Given the description of an element on the screen output the (x, y) to click on. 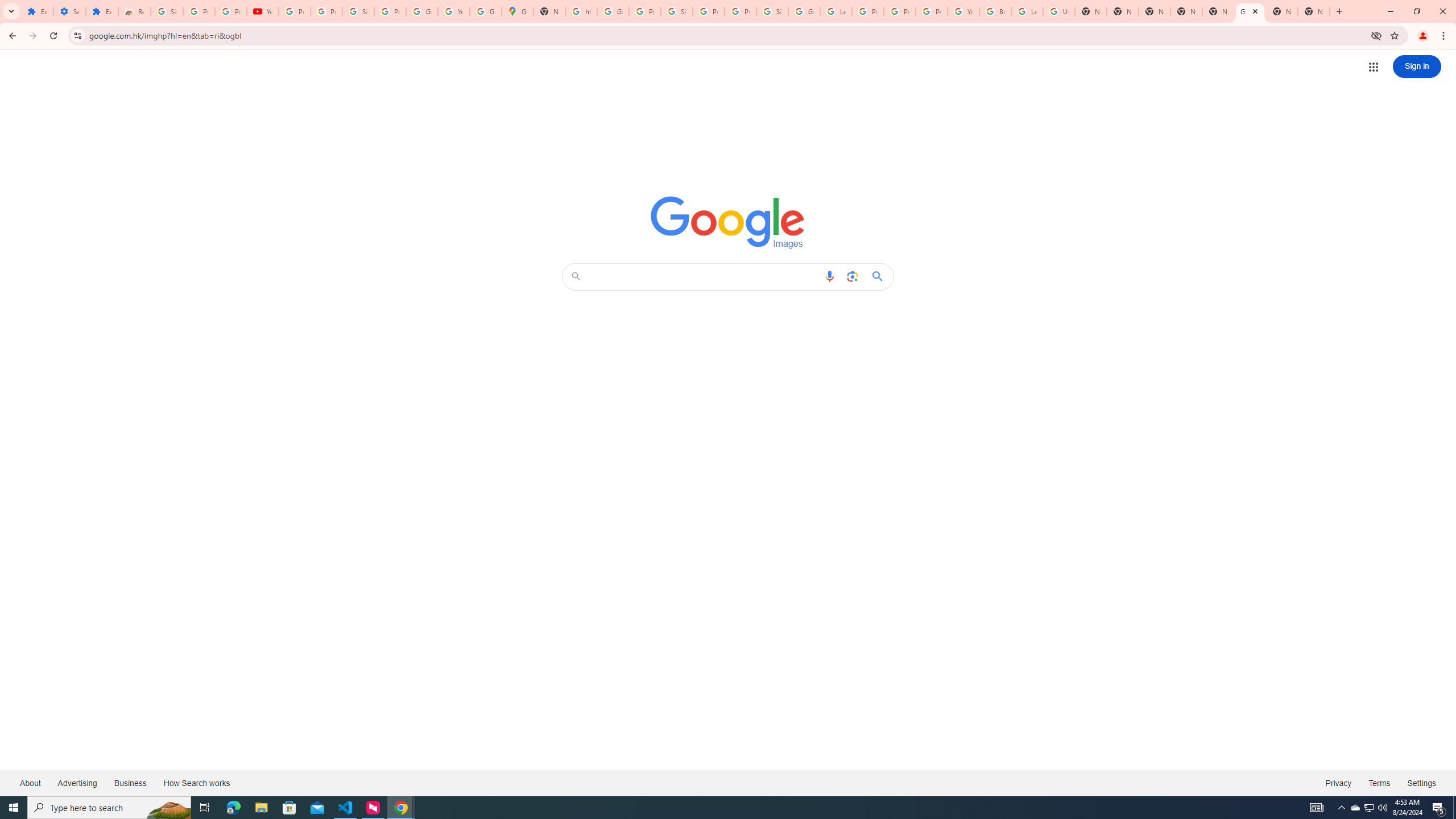
https://scholar.google.com/ (581, 11)
Sign in - Google Accounts (772, 11)
Privacy Help Center - Policies Help (868, 11)
How Search works (196, 782)
New Tab (1313, 11)
Sign in - Google Accounts (166, 11)
Privacy Help Center - Policies Help (899, 11)
Sign in - Google Accounts (676, 11)
Extensions (101, 11)
About (30, 782)
